Given the description of an element on the screen output the (x, y) to click on. 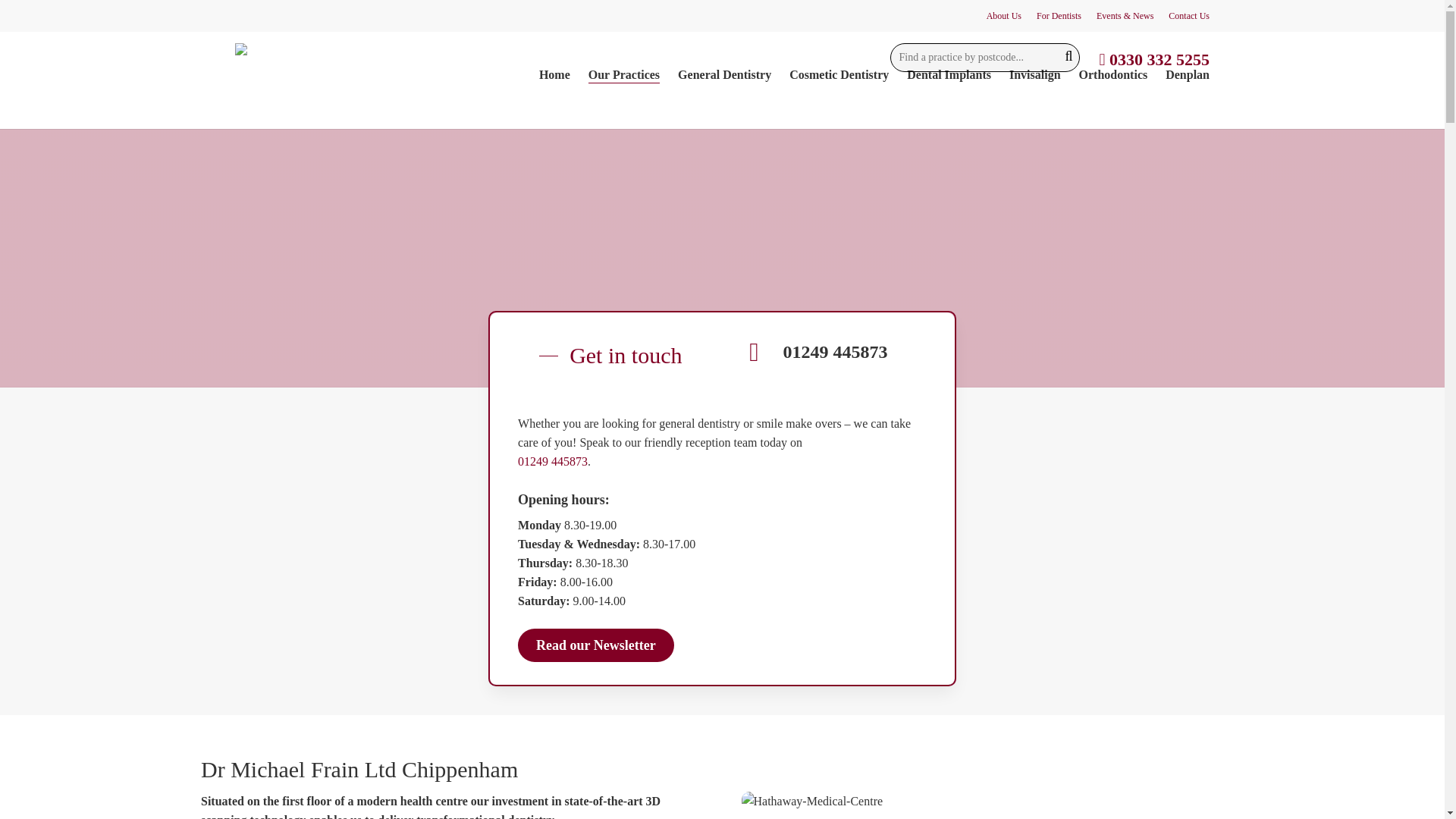
Denplan (1187, 73)
Invisalign (1035, 73)
General Dentistry (724, 73)
01249 445873 (553, 461)
Our Practices (623, 73)
About Us (1004, 15)
Dental Implants (949, 73)
For Dentists (1058, 15)
Home (554, 73)
Orthodontics (1113, 73)
Get in touch (609, 355)
Read our Newsletter (596, 644)
Contact Us (1189, 15)
Cosmetic Dentistry (838, 73)
